Given the description of an element on the screen output the (x, y) to click on. 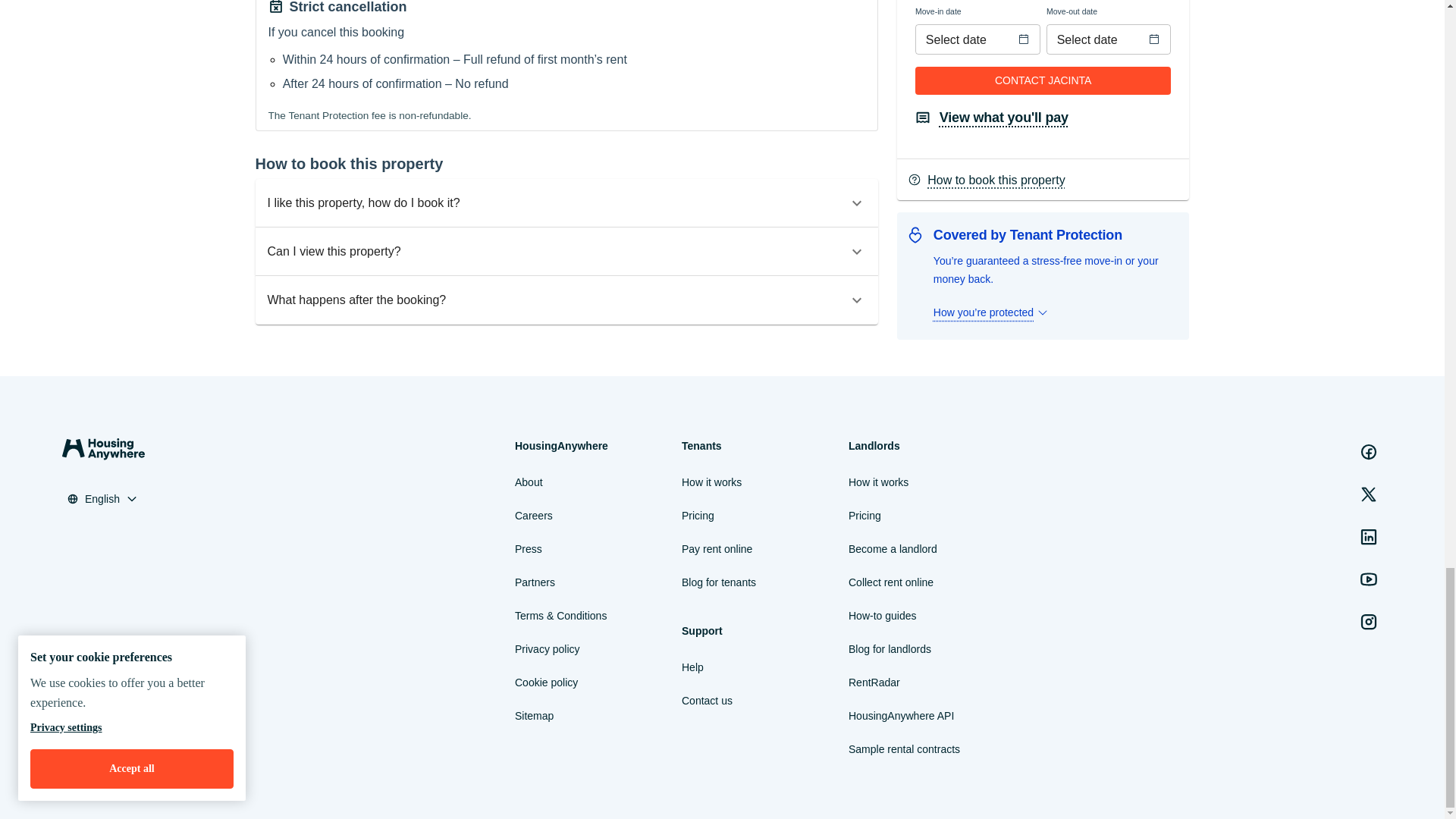
Cookie policy (546, 682)
Pricing (697, 515)
Sitemap (534, 715)
Partners (534, 582)
About (529, 482)
twitter (1369, 494)
How it works (711, 482)
instagram (1369, 621)
Careers (534, 515)
linkedin (1369, 536)
